Given the description of an element on the screen output the (x, y) to click on. 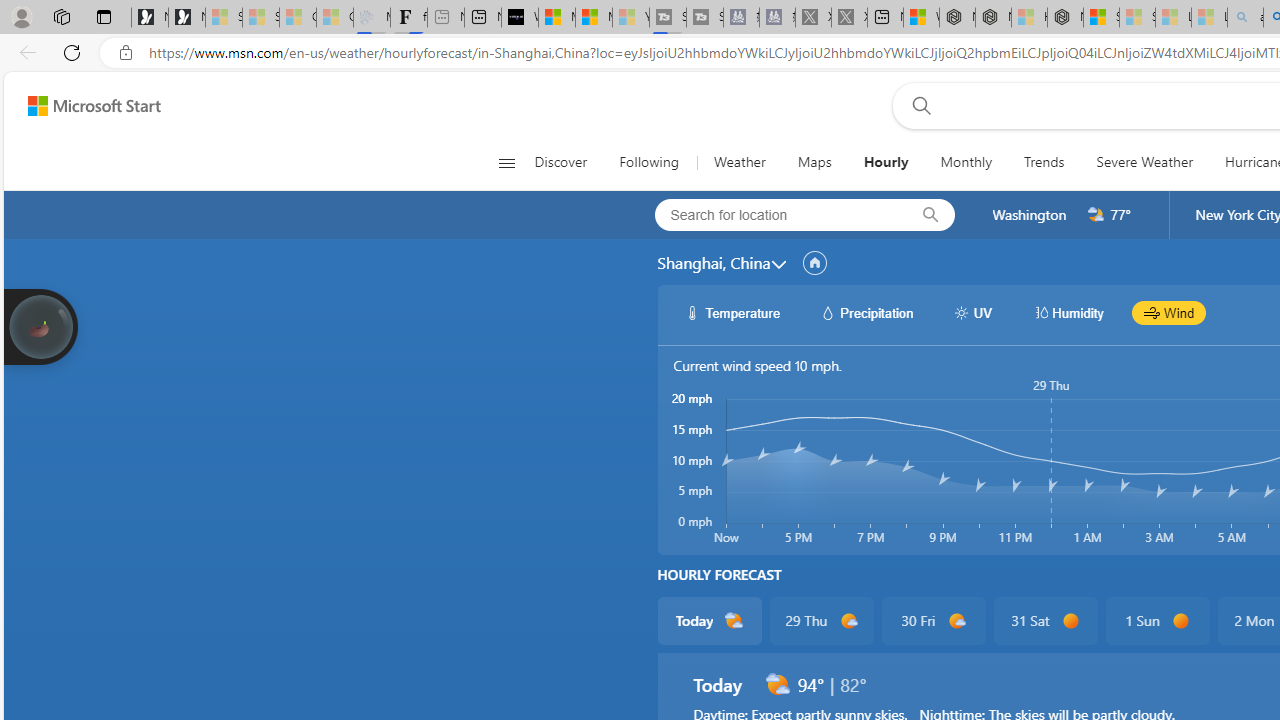
29 Thu d1000 (821, 620)
common/carouselChevron (778, 264)
Monthly (966, 162)
Class: button-glyph (505, 162)
n2000 (1096, 215)
